Given the description of an element on the screen output the (x, y) to click on. 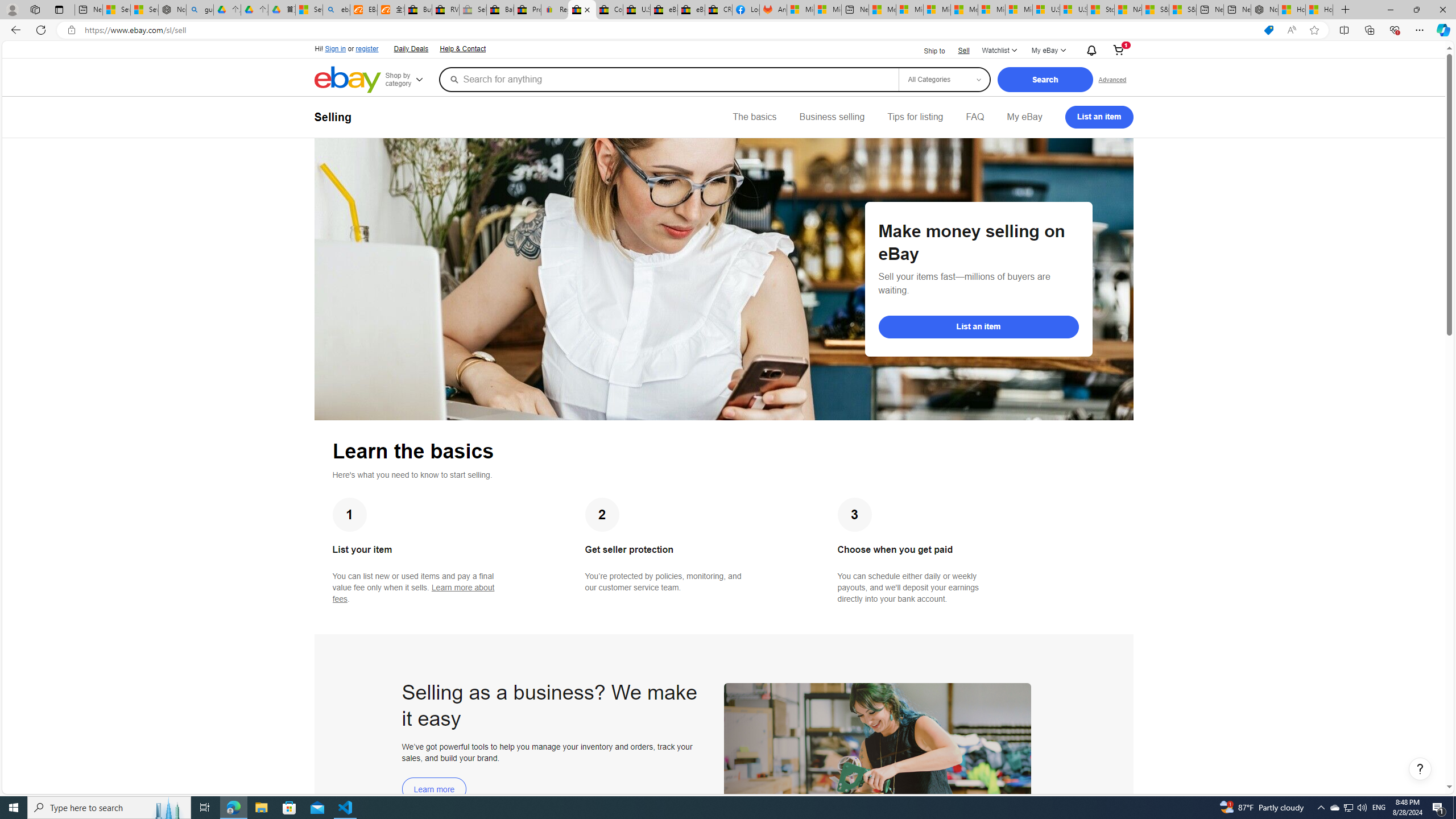
Ship to (927, 49)
Sell (963, 49)
Advanced Search (1112, 78)
AutomationID: gh-eb-Alerts (1090, 49)
Tips for listing (914, 116)
Learn more about fees - opens in new window or tab. (413, 593)
Help, opens dialogs (1420, 768)
Business selling (831, 116)
Expand Cart (1118, 50)
